Given the description of an element on the screen output the (x, y) to click on. 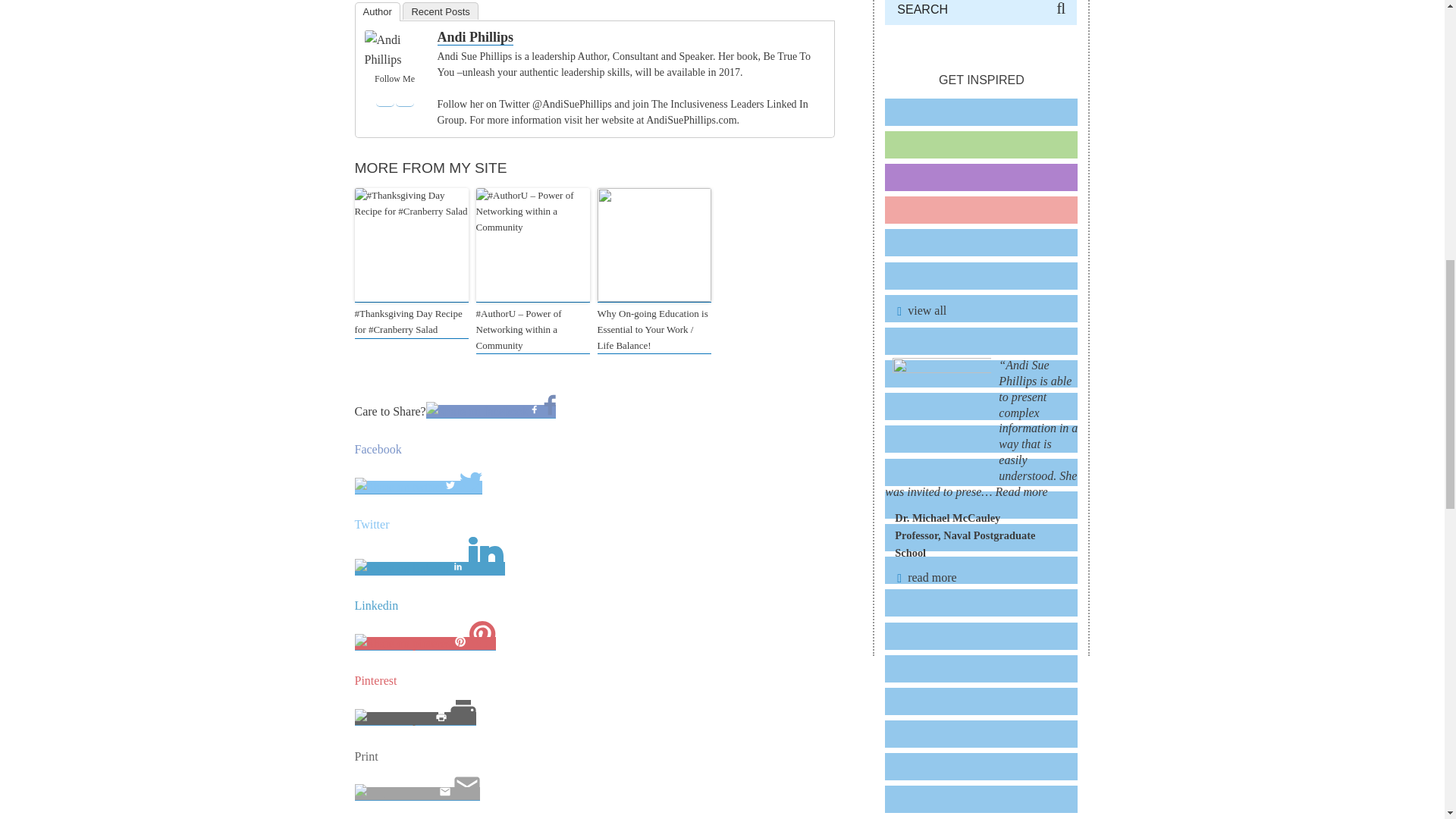
Twitter (404, 97)
linkedin (403, 568)
Twitter (595, 527)
SEARCH (981, 12)
Pinterest (595, 680)
Facebook (595, 448)
Pinterest (595, 681)
facebook (477, 411)
Twitter (595, 524)
Andi Phillips (394, 59)
